Given the description of an element on the screen output the (x, y) to click on. 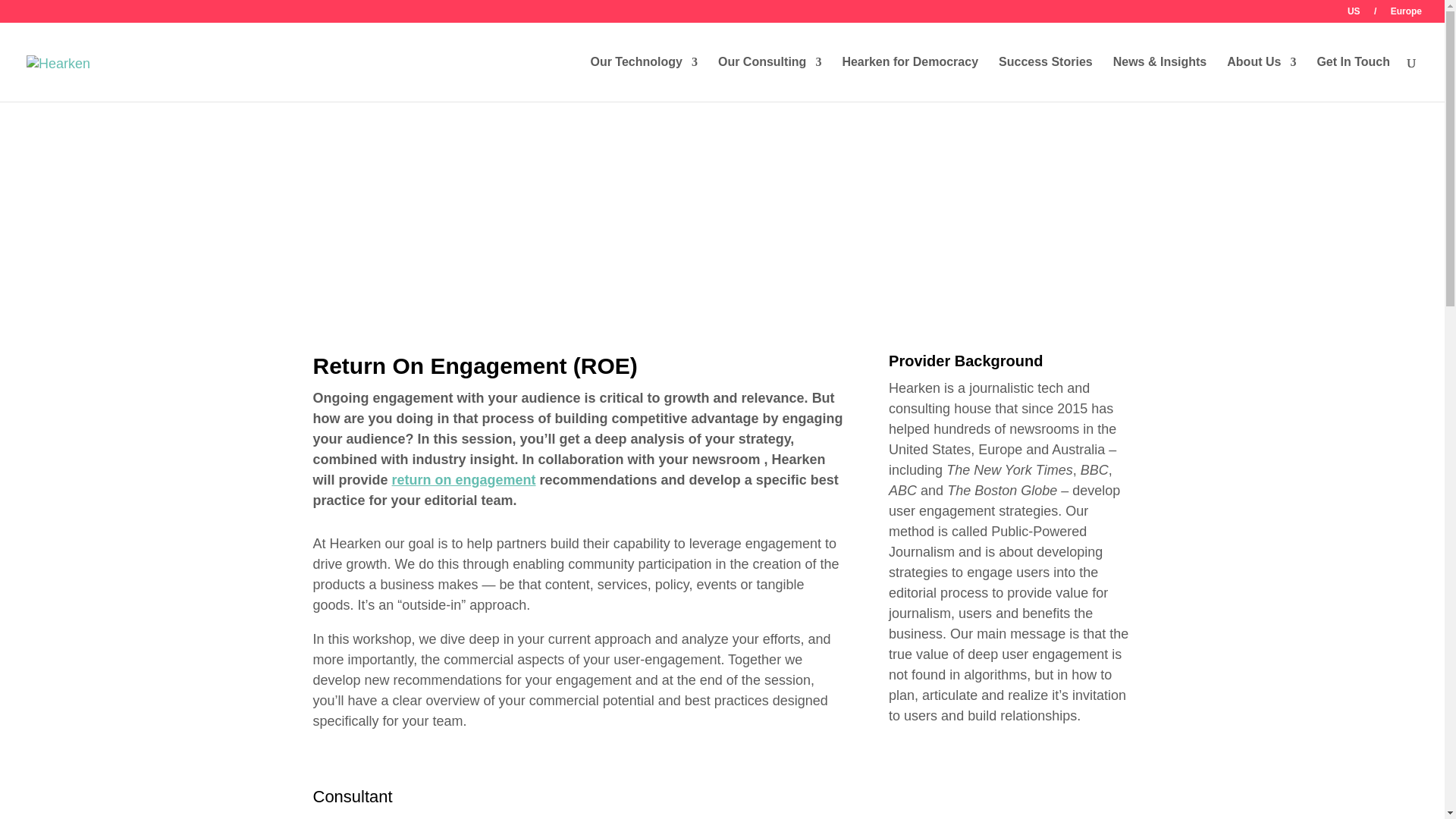
US (1353, 14)
Success Stories (1045, 78)
Get In Touch (1353, 78)
Our Consulting (769, 78)
Europe (1406, 14)
Our Technology (643, 78)
Hearken for Democracy (909, 78)
About Us (1261, 78)
return on engagement (463, 479)
